Given the description of an element on the screen output the (x, y) to click on. 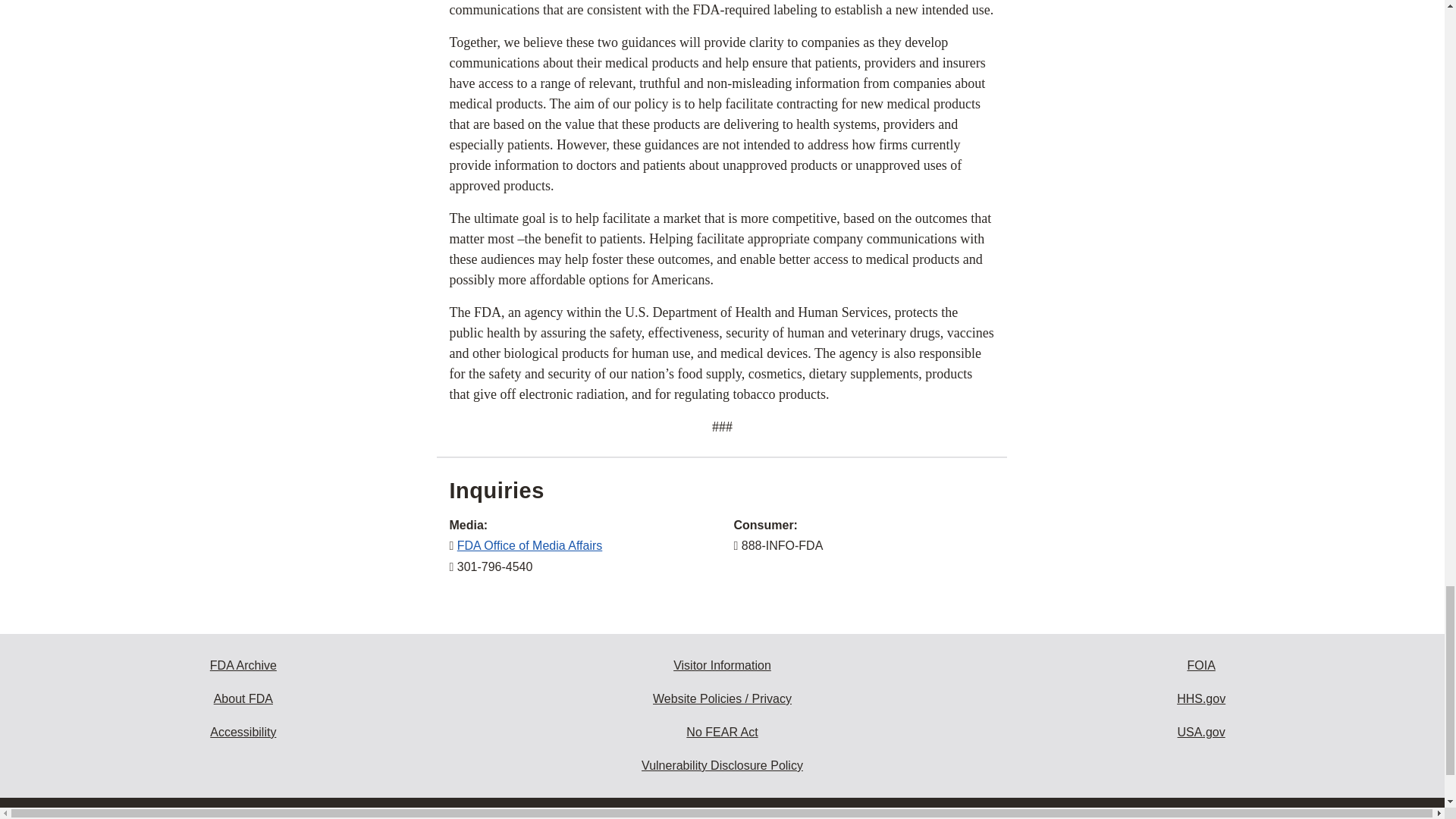
Freedom of Information Act (1200, 665)
Health and Human Services (1200, 698)
